Given the description of an element on the screen output the (x, y) to click on. 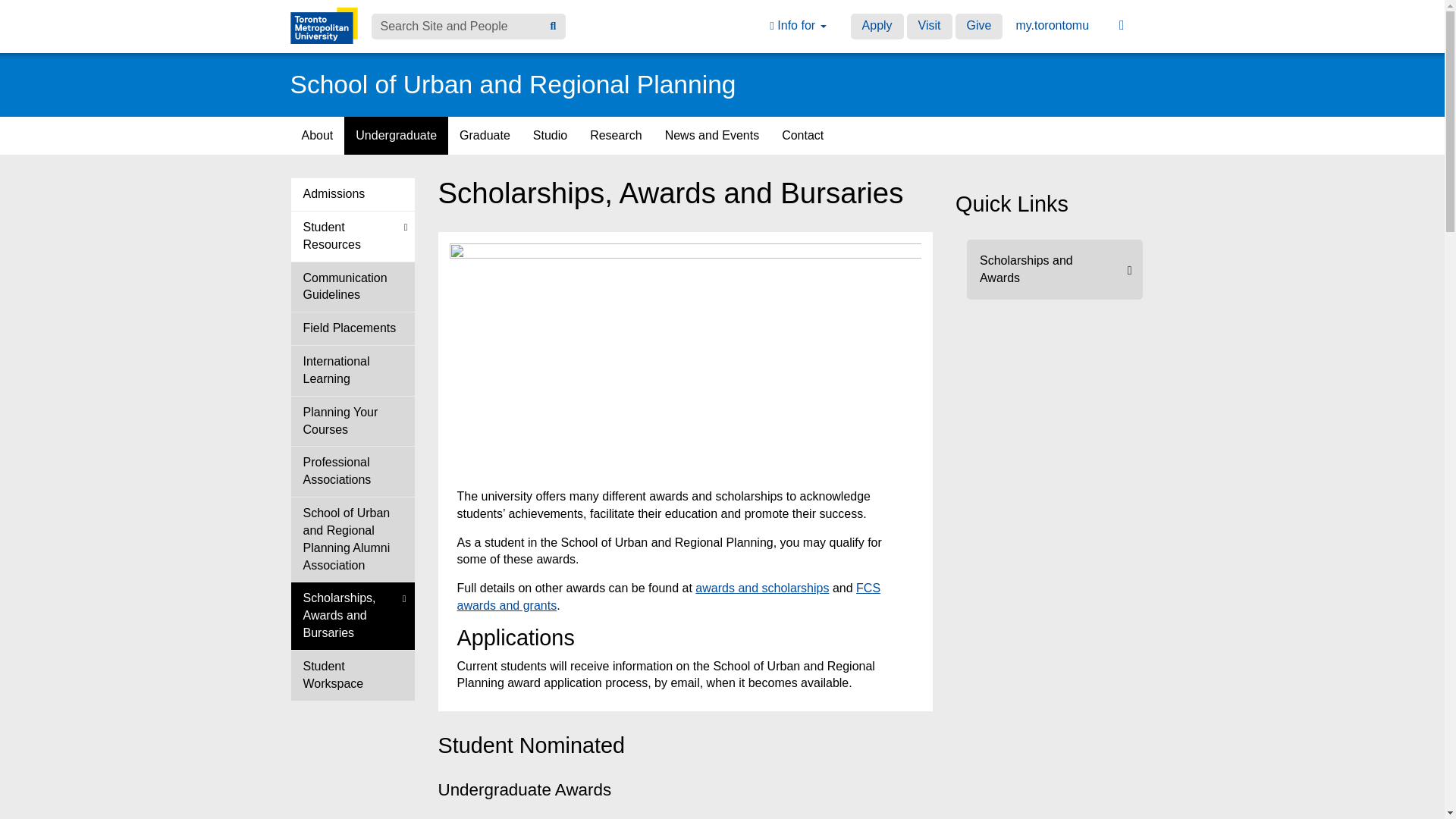
Visit (929, 26)
Info for (797, 26)
Apply (877, 26)
Toronto Metropolitan University (322, 25)
School of Urban and Regional Planning (512, 84)
Menu (1121, 26)
my.torontomu (1052, 26)
Give (979, 26)
